Given the description of an element on the screen output the (x, y) to click on. 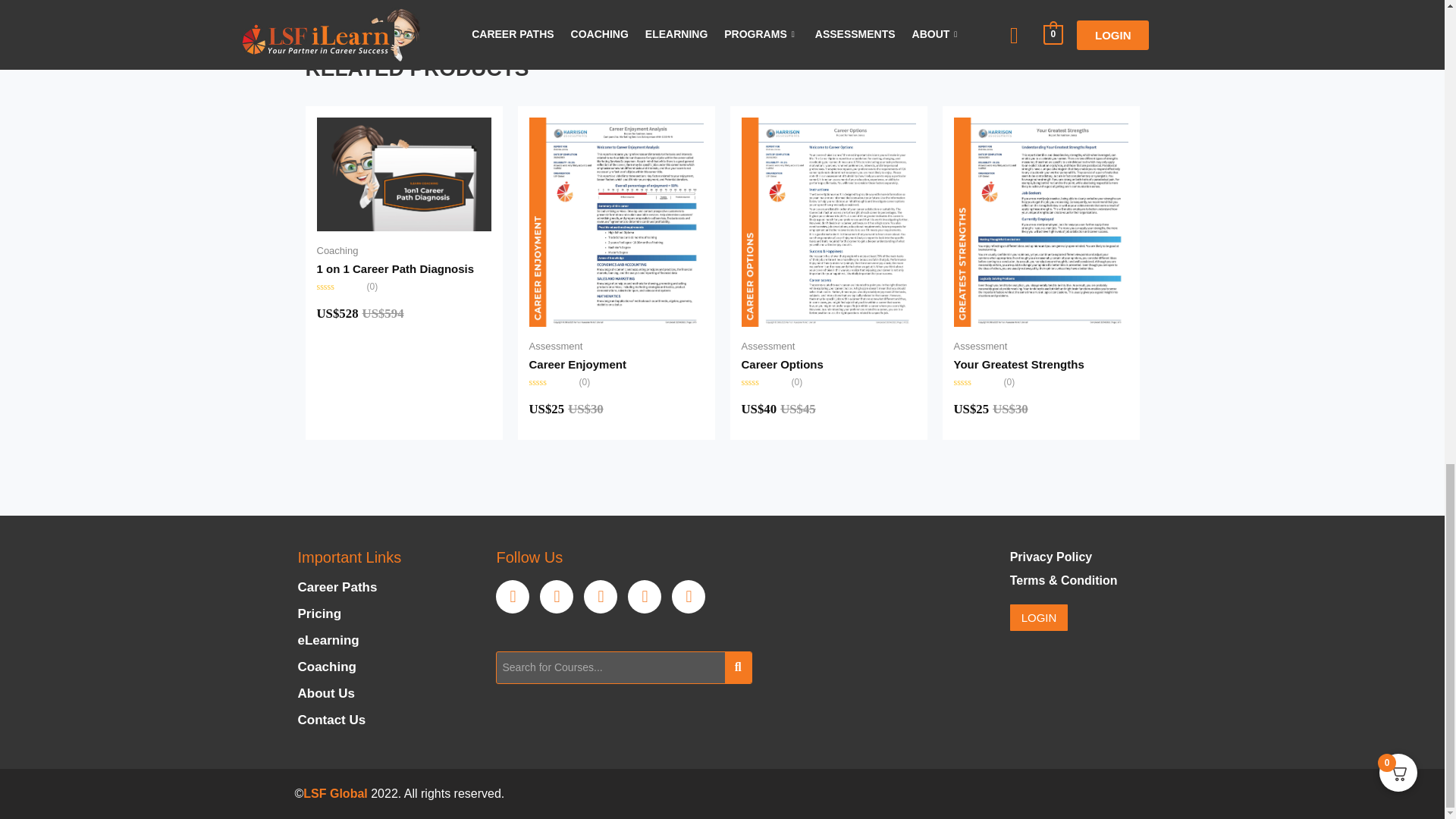
View Product Full Details (395, 268)
View Product Full Details (828, 220)
View Product Full Details (404, 173)
View Product Full Details (577, 364)
Product Category (556, 346)
Product Category (337, 250)
View Product Full Details (616, 220)
